Given the description of an element on the screen output the (x, y) to click on. 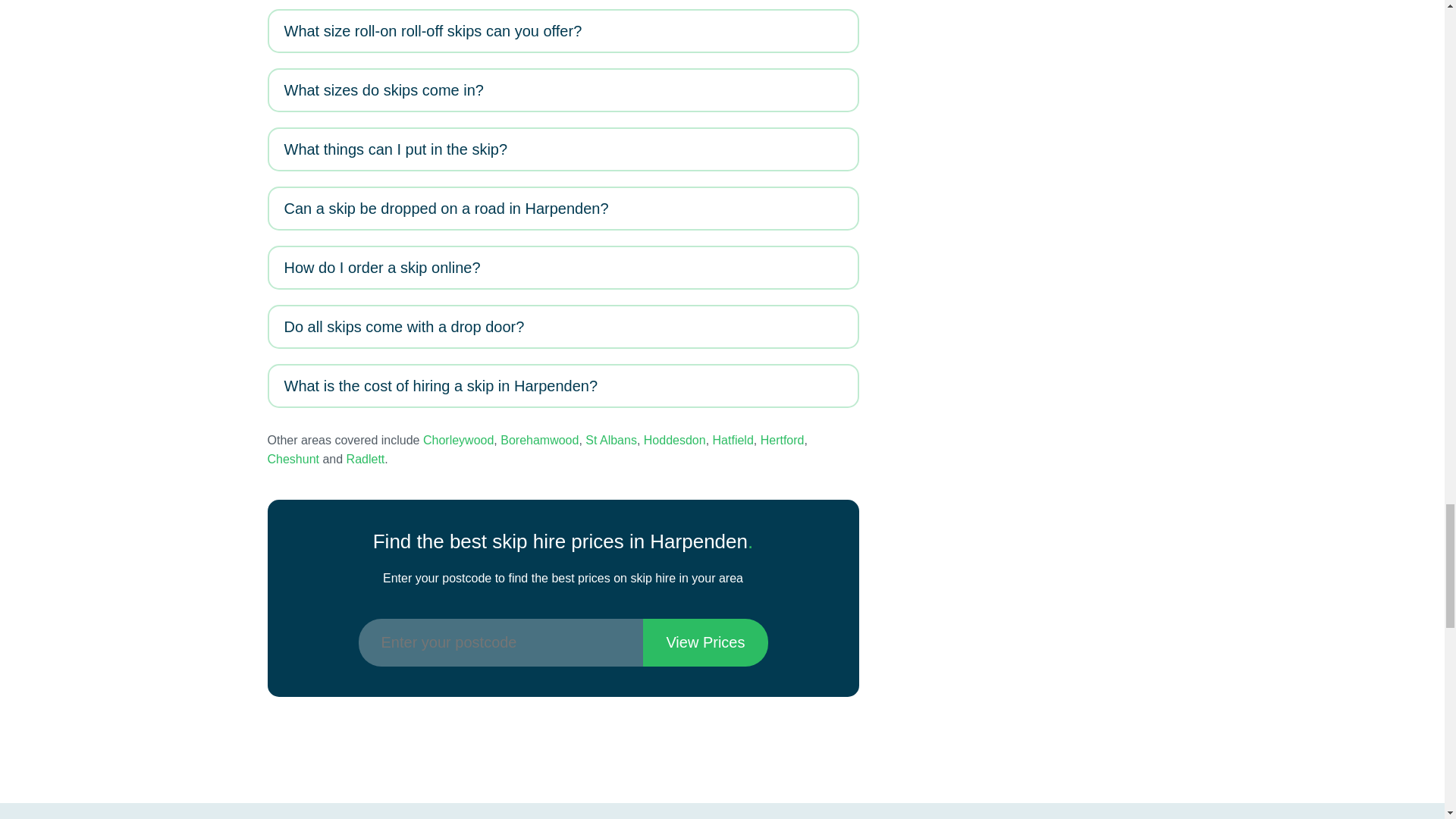
Chorleywood (458, 440)
View Prices (705, 642)
Cheshunt (292, 459)
Borehamwood (539, 440)
Radlett (365, 459)
Hertford (782, 440)
View Prices (705, 642)
View Prices (705, 642)
St Albans (611, 440)
Hatfield (733, 440)
